Given the description of an element on the screen output the (x, y) to click on. 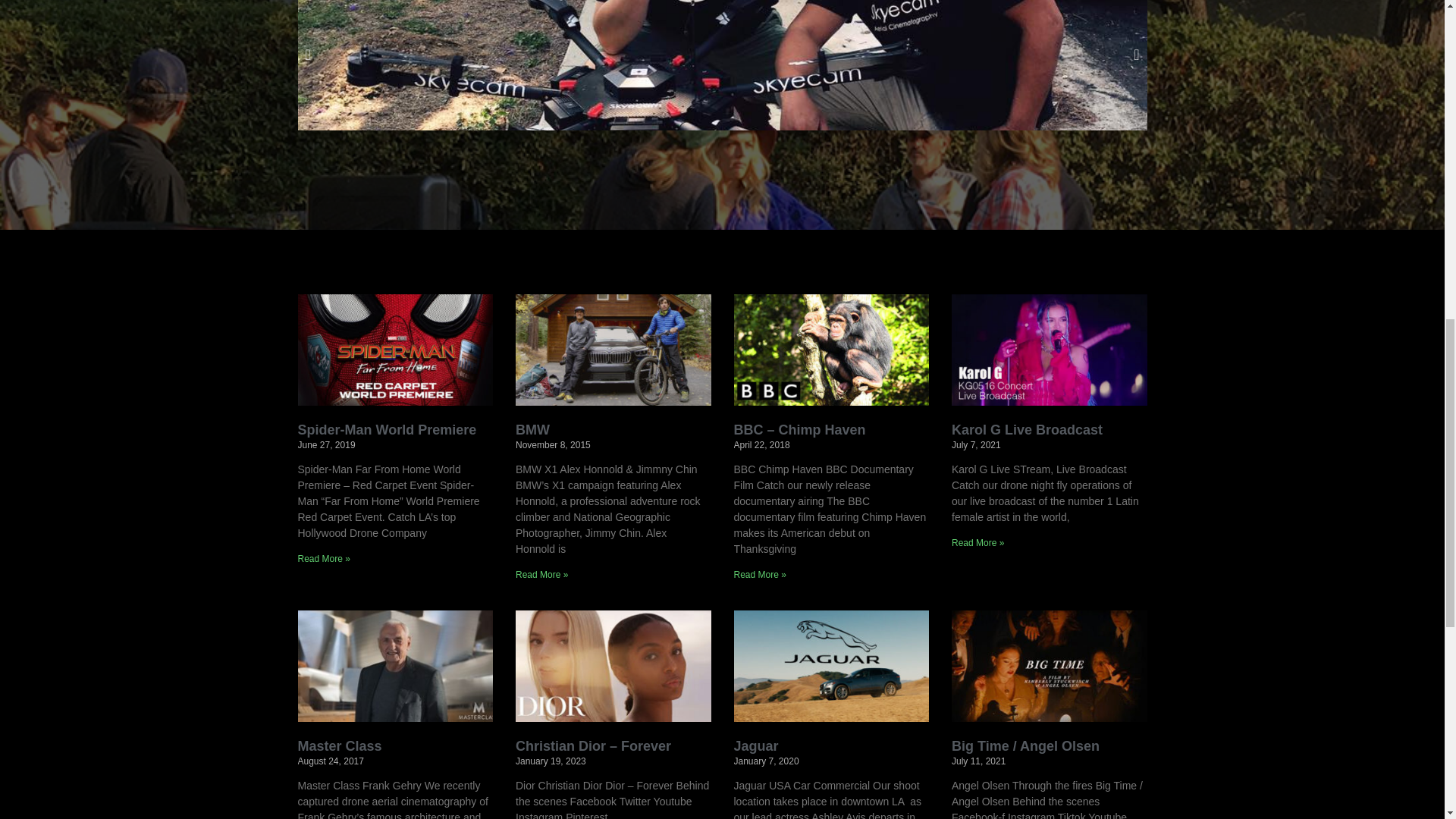
Karol G Live Broadcast (1027, 429)
Master Class (339, 745)
BMW (532, 429)
Spider-Man World Premiere (386, 429)
